Given the description of an element on the screen output the (x, y) to click on. 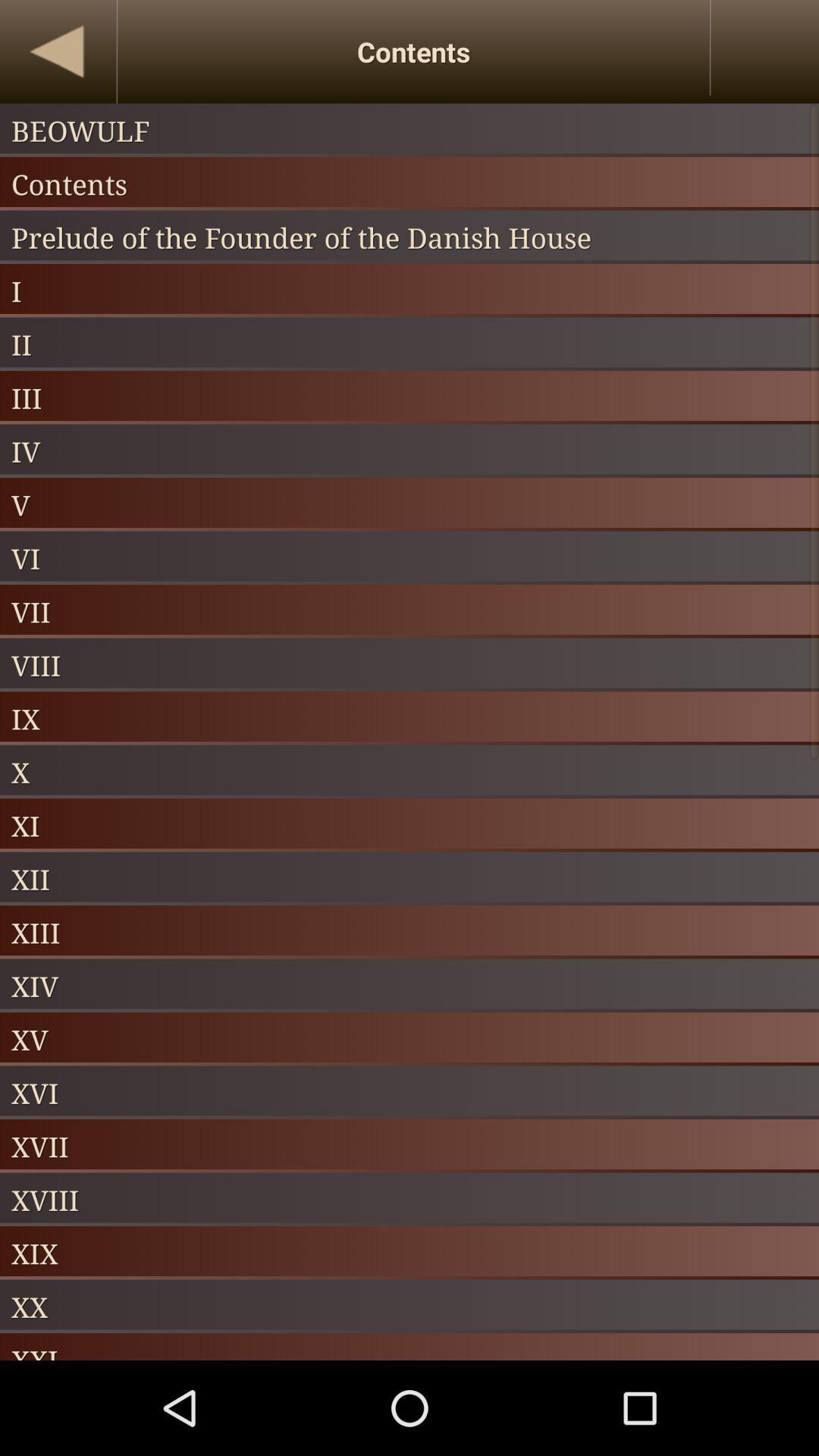
flip until xi app (409, 825)
